Given the description of an element on the screen output the (x, y) to click on. 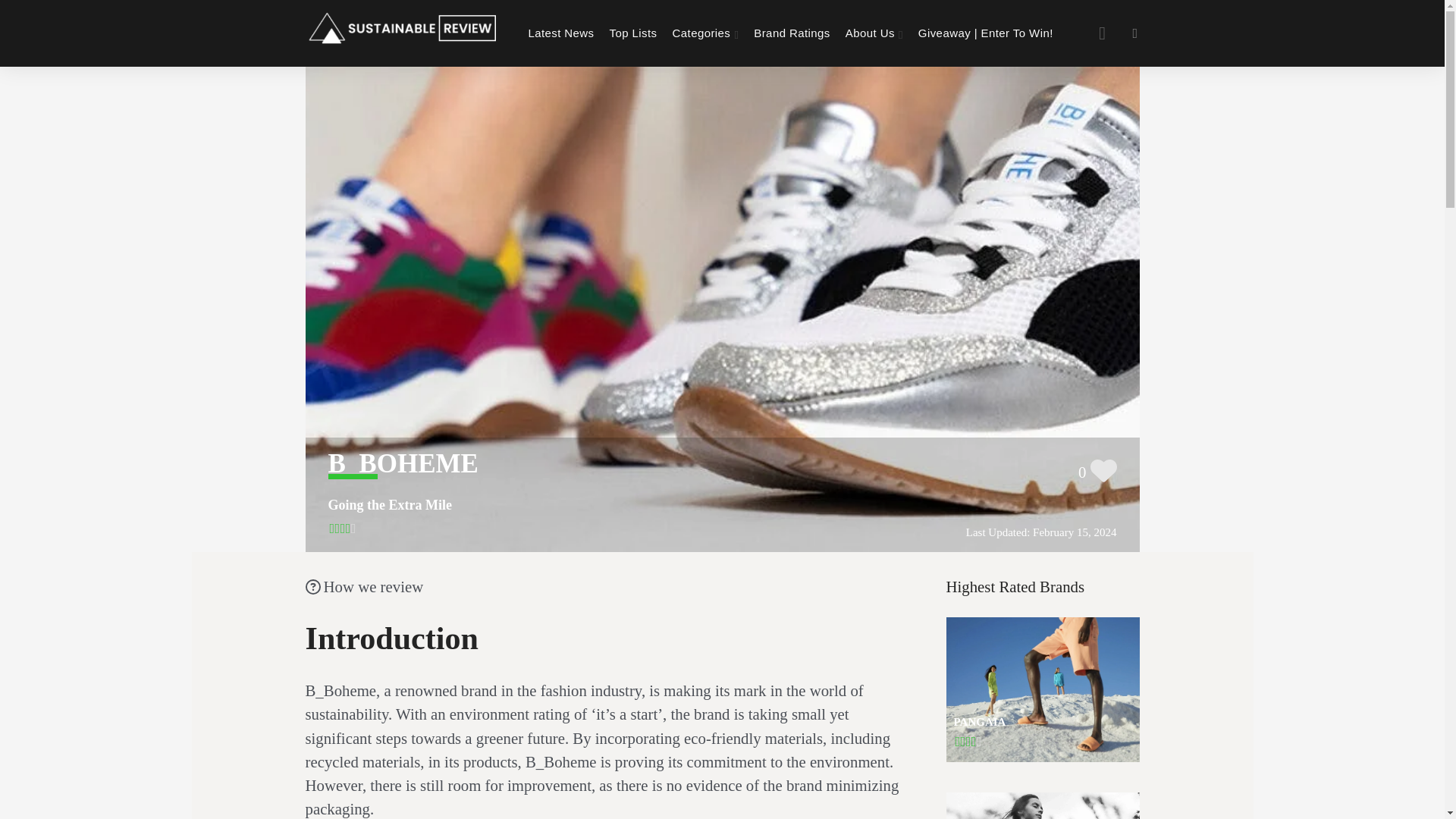
Categories (705, 32)
PANGAIA (1043, 689)
Top Lists (633, 32)
About Us (874, 32)
Top Lists (633, 32)
Latest News (560, 32)
Brand Ratings (791, 32)
How we review (363, 586)
Categories (705, 32)
Latest News (560, 32)
World Of Crow (1043, 805)
